Given the description of an element on the screen output the (x, y) to click on. 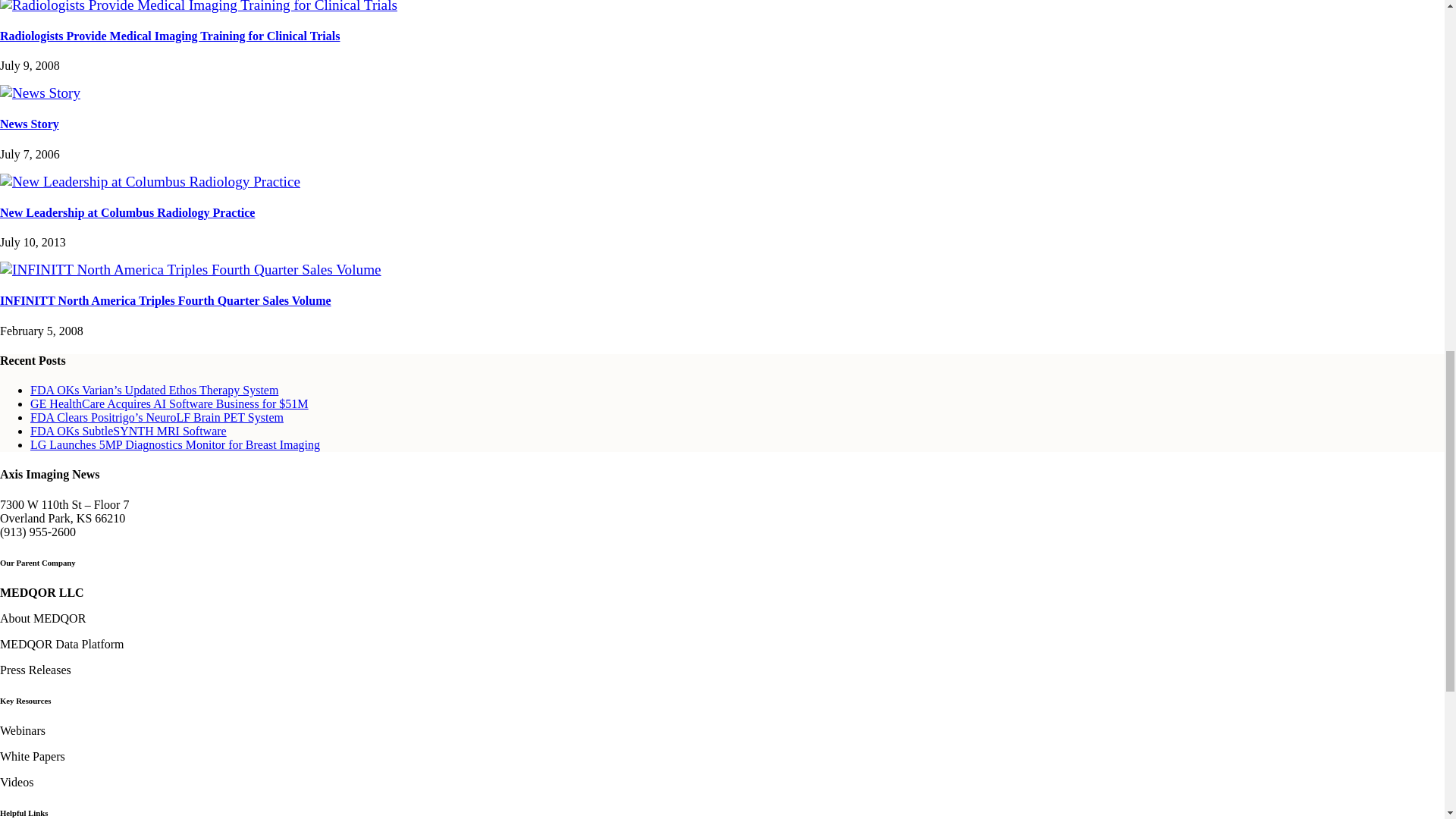
New Leadership at Columbus Radiology Practice (149, 181)
INFINITT North America Triples Fourth Quarter Sales Volume (190, 269)
News Story (29, 123)
News Story (40, 92)
